Given the description of an element on the screen output the (x, y) to click on. 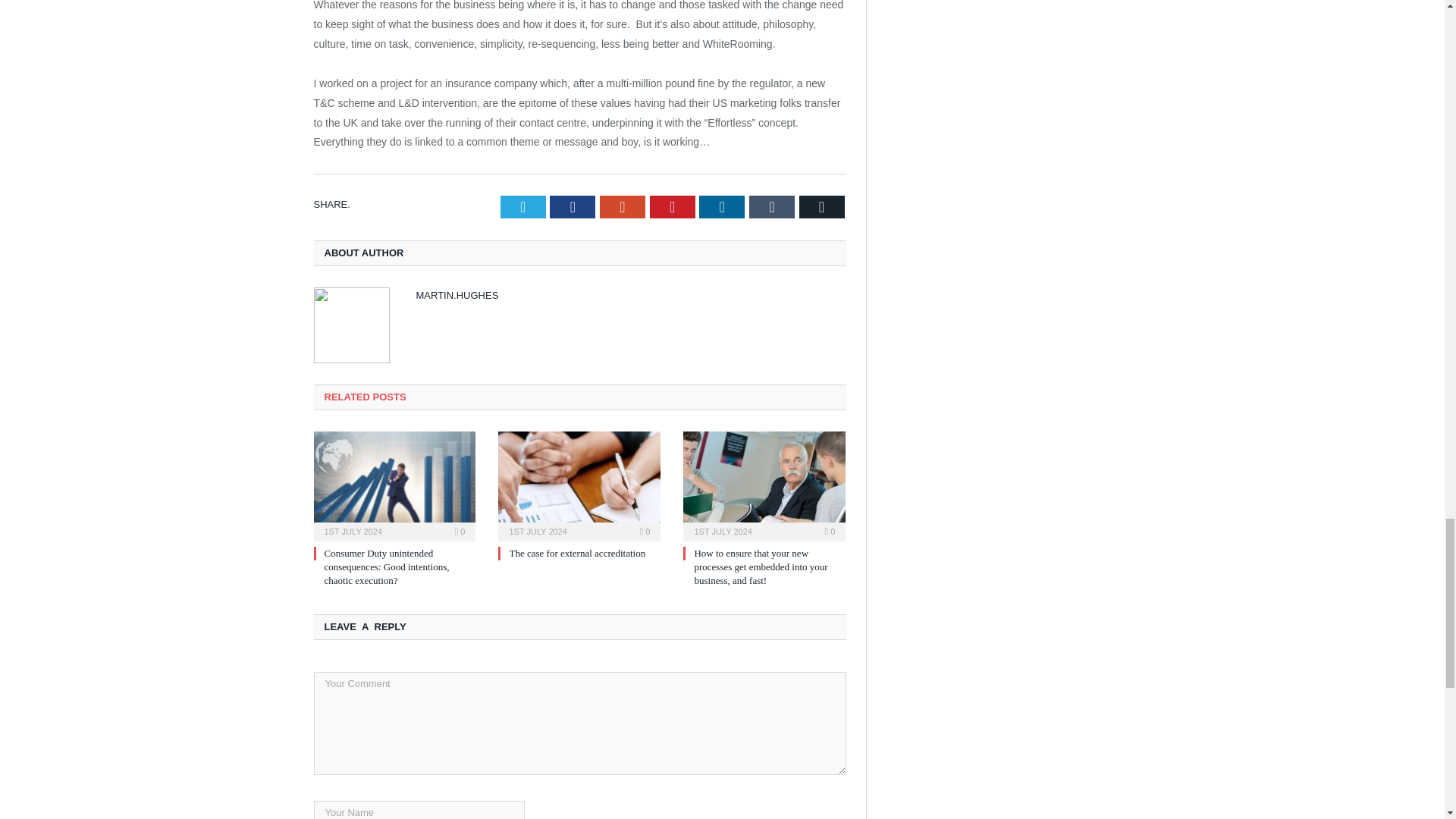
LinkedIn (721, 206)
Posts by Martin.Hughes (455, 295)
Facebook (572, 206)
Twitter (523, 206)
Pinterest (672, 206)
Tumblr (771, 206)
Email (821, 206)
MARTIN.HUGHES (455, 295)
